Given the description of an element on the screen output the (x, y) to click on. 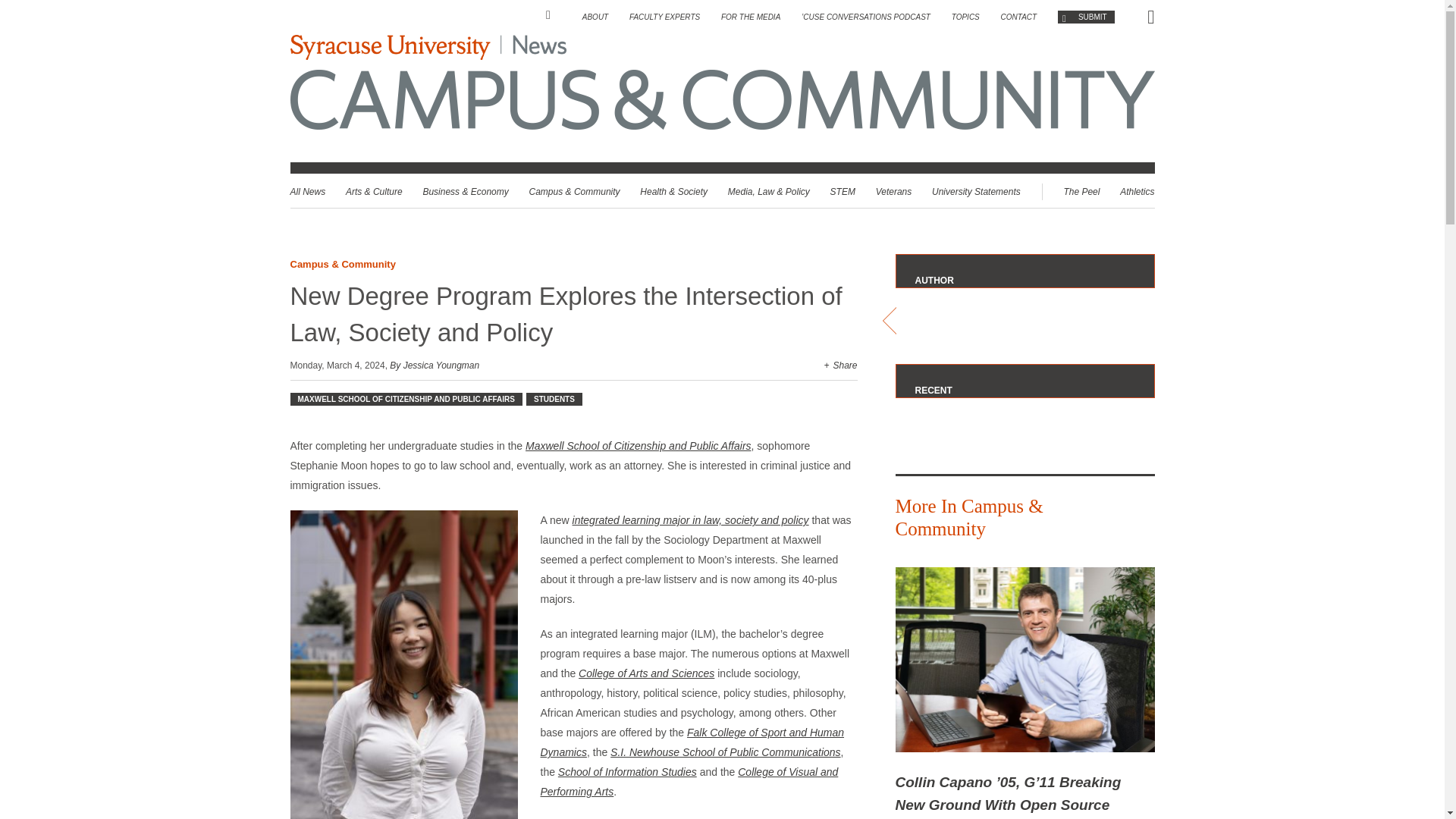
Home (553, 15)
CONTACT (1018, 17)
SUBMIT (1086, 16)
About (595, 17)
The Peel (1080, 191)
TOPICS (965, 17)
Athletics (1136, 191)
Syracuse University News (427, 47)
Faculty Experts (664, 17)
Syracuse University (388, 47)
All News (306, 191)
Submit (1086, 16)
FOR THE MEDIA (750, 17)
STEM (842, 191)
Topics (965, 17)
